Given the description of an element on the screen output the (x, y) to click on. 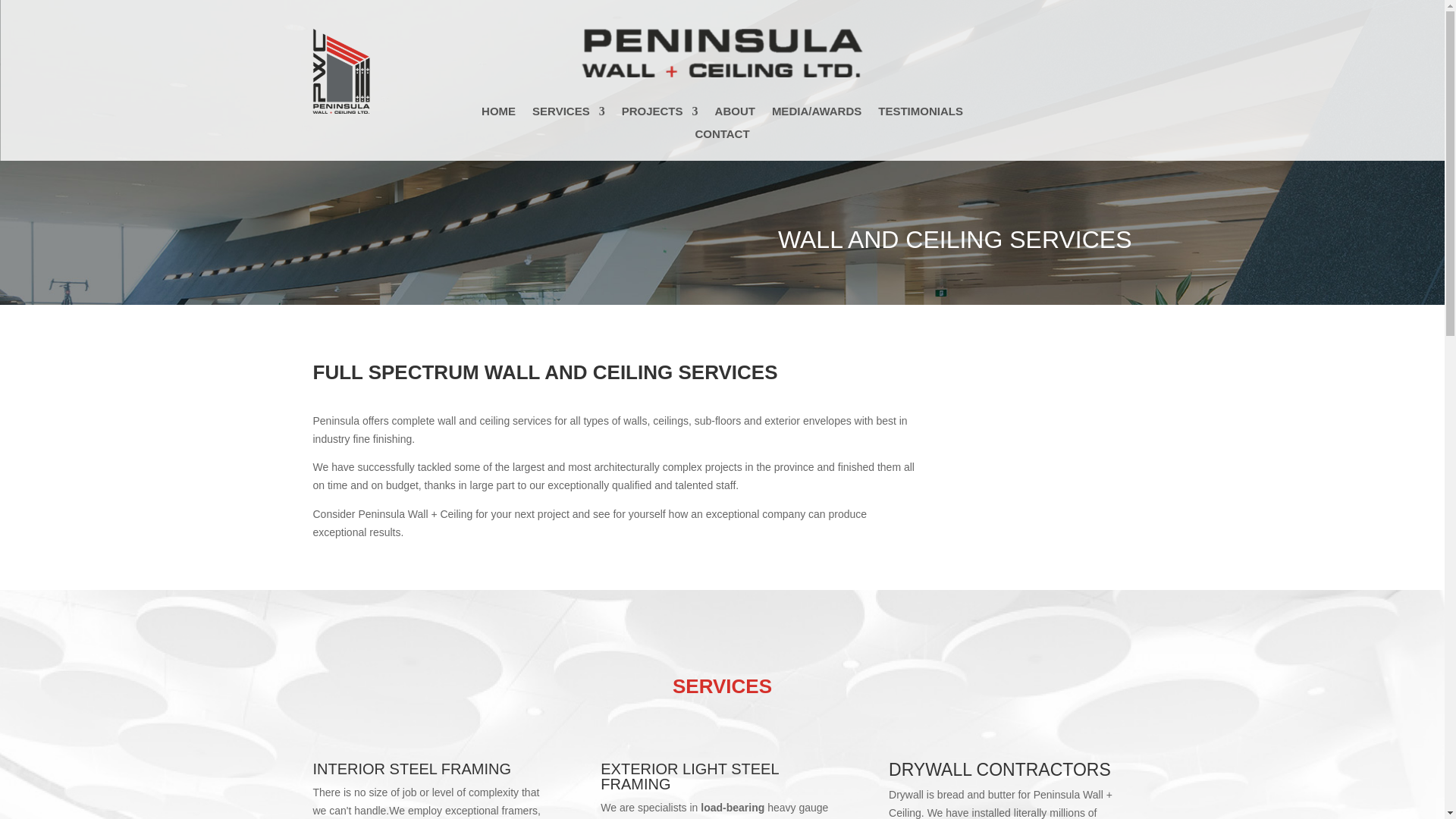
PROJECTS (659, 114)
ABOUT (734, 114)
CONTACT (721, 136)
SERVICES (568, 114)
HOME (498, 114)
TESTIMONIALS (919, 114)
